Given the description of an element on the screen output the (x, y) to click on. 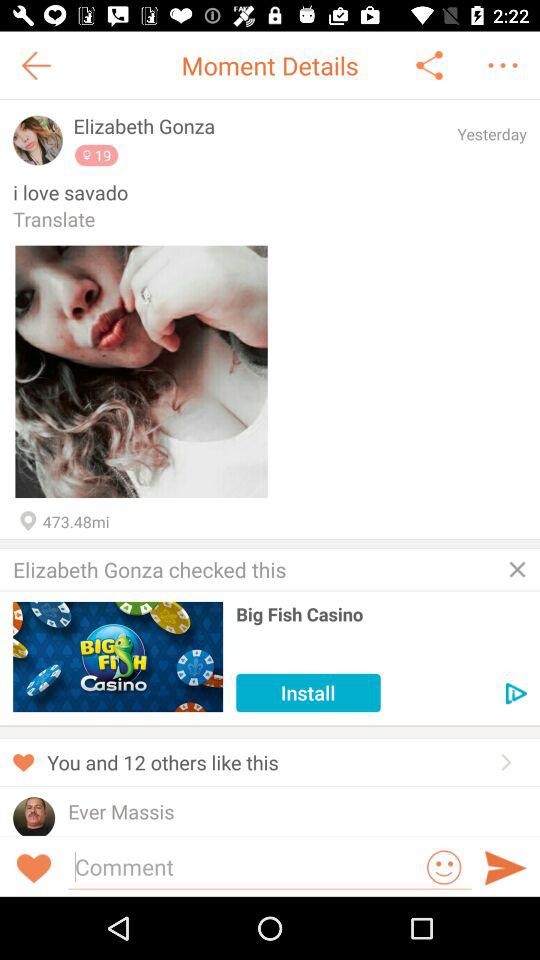
view profile (34, 816)
